Given the description of an element on the screen output the (x, y) to click on. 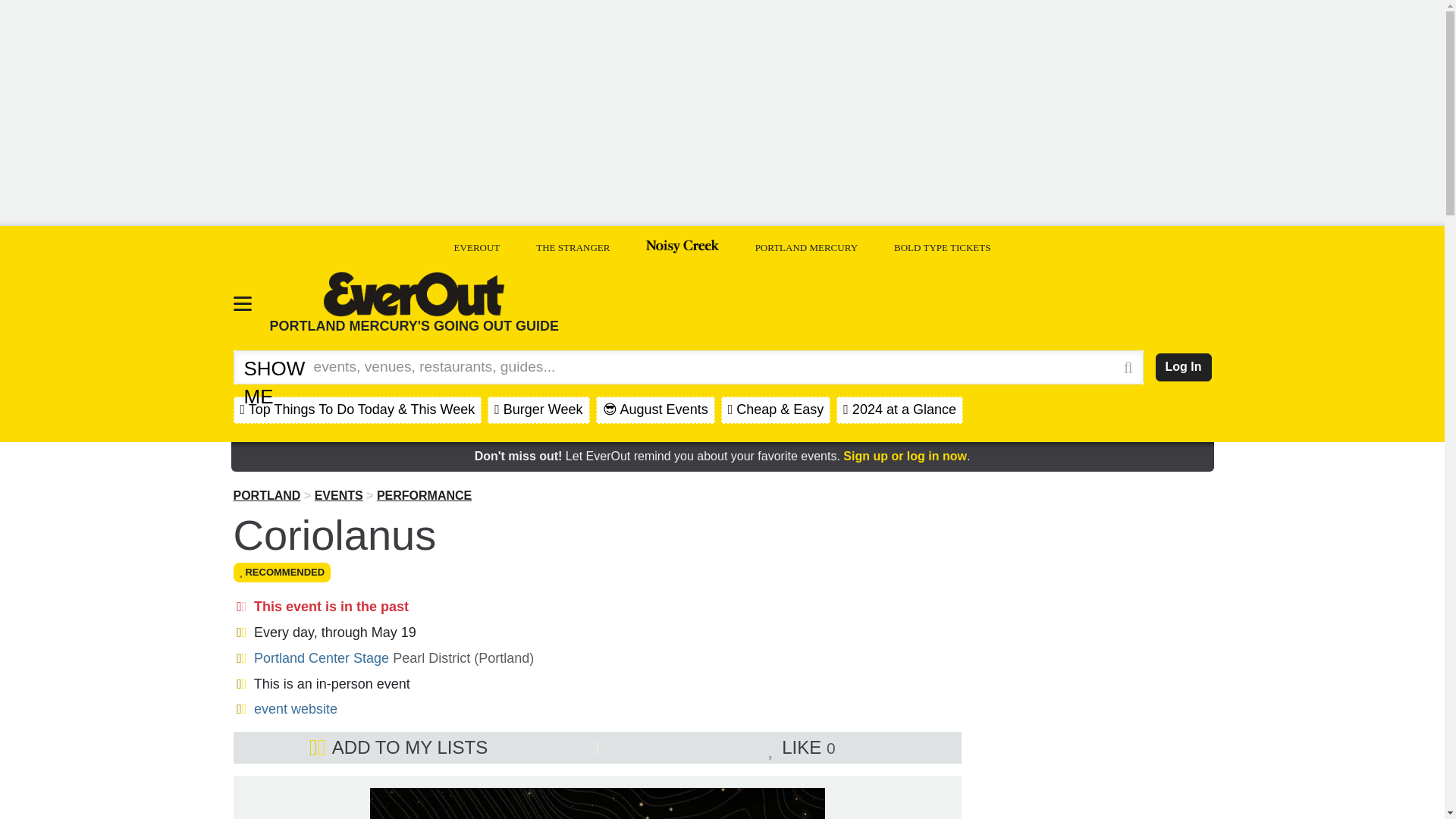
EVENTS (338, 495)
event website (295, 708)
PORTLAND (266, 495)
PERFORMANCE (424, 495)
3rd party ad content (1097, 755)
Portland Center Stage (320, 657)
3rd party ad content (1097, 584)
PORTLAND MERCURY (806, 247)
BOLD TYPE TICKETS (941, 247)
EVEROUT (477, 247)
